Given the description of an element on the screen output the (x, y) to click on. 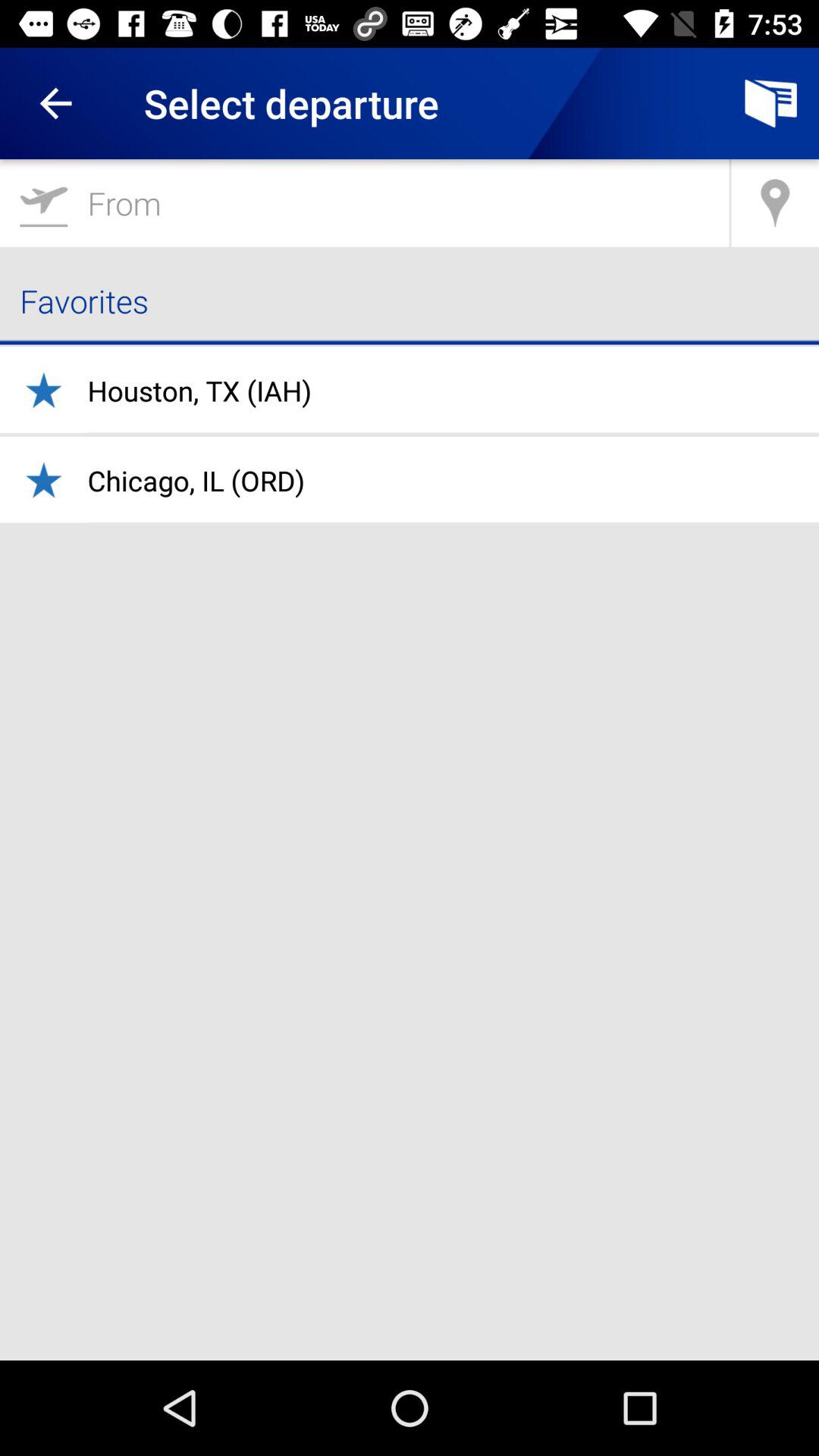
turn on item to the right of the select departure icon (771, 103)
